Given the description of an element on the screen output the (x, y) to click on. 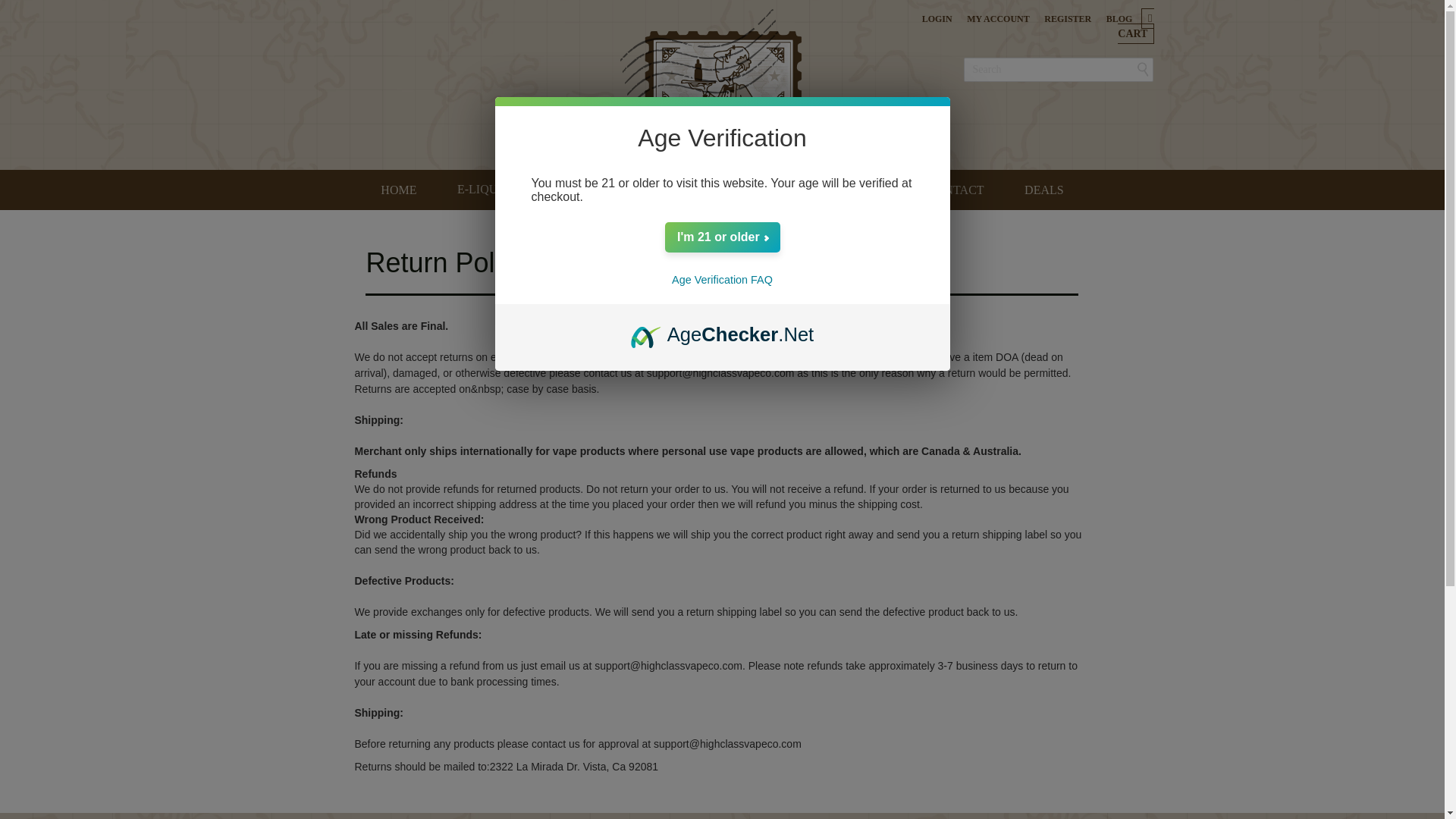
LOGIN (936, 18)
REGISTER (1066, 18)
BLOG (1119, 18)
DIY SUPPLIES (847, 190)
CONTACT (955, 190)
ACCESSORIES (727, 190)
HARDWARE (606, 189)
MY ACCOUNT (997, 18)
CART (1136, 26)
HOME (398, 190)
E-LIQUIDS (492, 189)
DEALS (1044, 190)
